Given the description of an element on the screen output the (x, y) to click on. 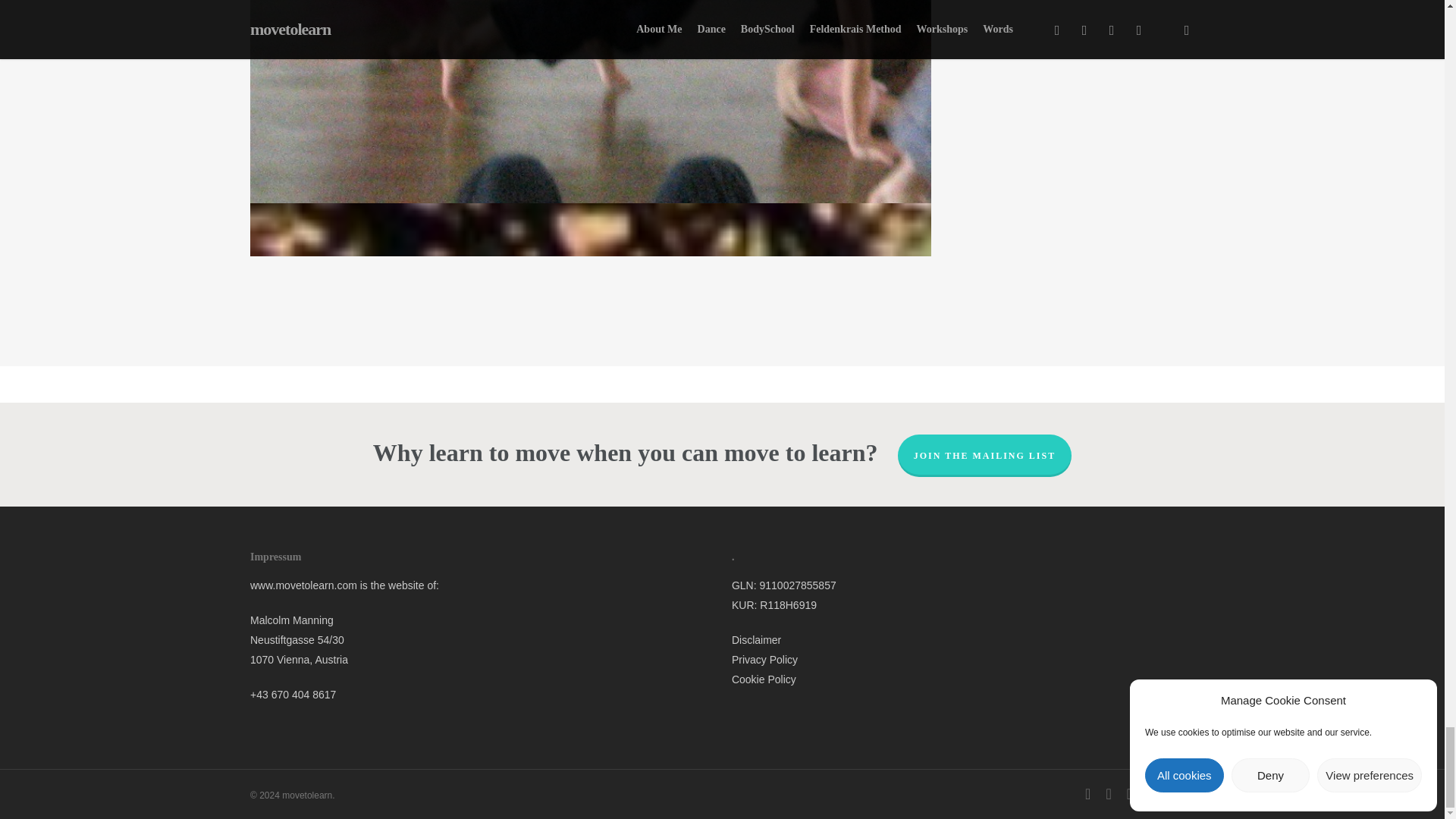
Verified by MonsterInsights (722, 797)
